Given the description of an element on the screen output the (x, y) to click on. 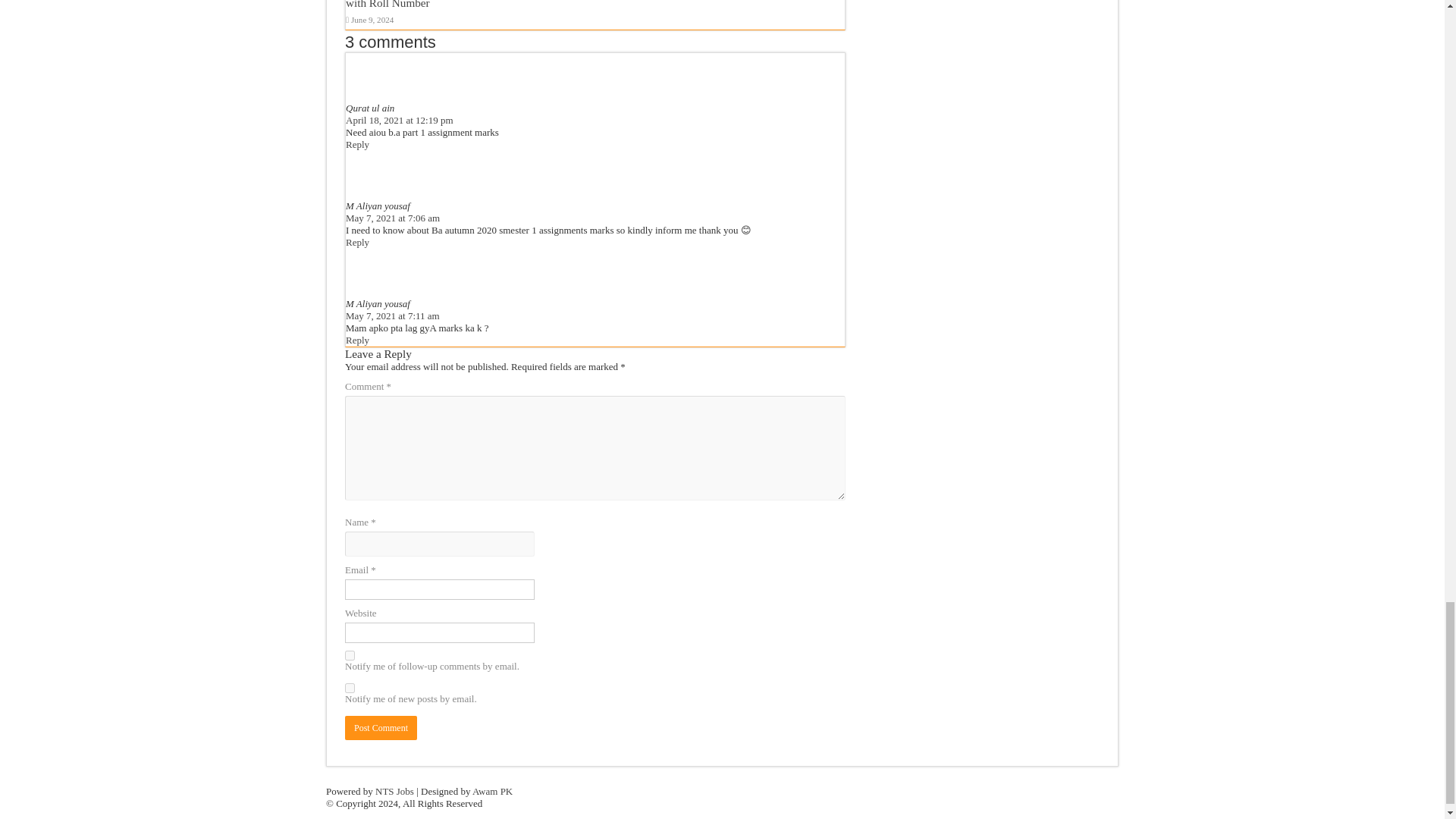
Reply (357, 242)
April 18, 2021 at 12:19 pm (399, 120)
Post Comment (380, 727)
subscribe (350, 687)
Post Comment (380, 727)
Reply (357, 143)
subscribe (350, 655)
May 7, 2021 at 7:11 am (392, 315)
May 7, 2021 at 7:06 am (392, 217)
Reply (357, 339)
